Given the description of an element on the screen output the (x, y) to click on. 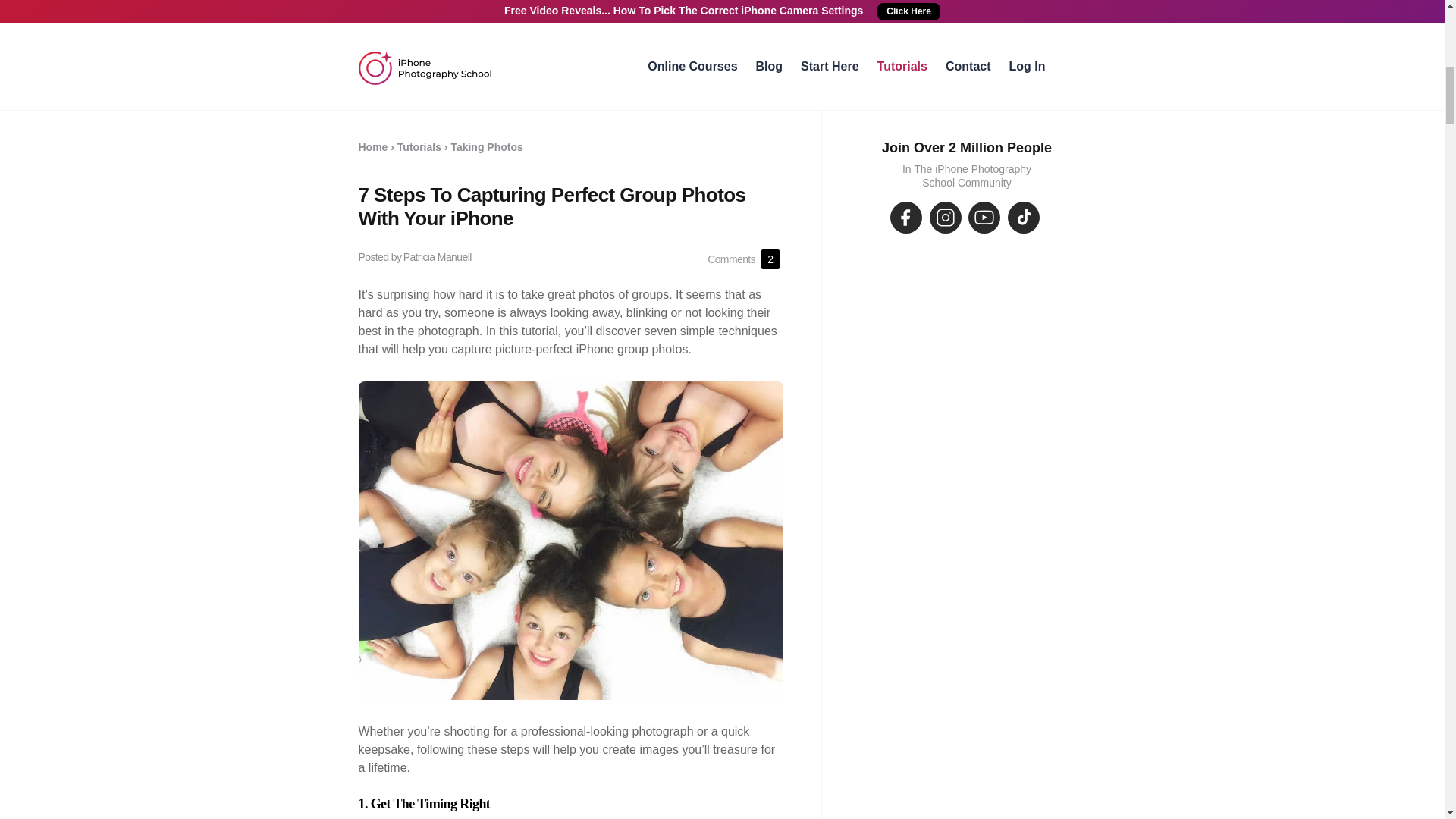
Online Courses (692, 65)
Patricia Manuell (437, 256)
Blog (769, 65)
Home (372, 146)
Tutorials (901, 65)
Tutorials (419, 146)
Contact (968, 65)
Log In (1027, 65)
Taking Photos (485, 146)
Start Here (829, 65)
